Given the description of an element on the screen output the (x, y) to click on. 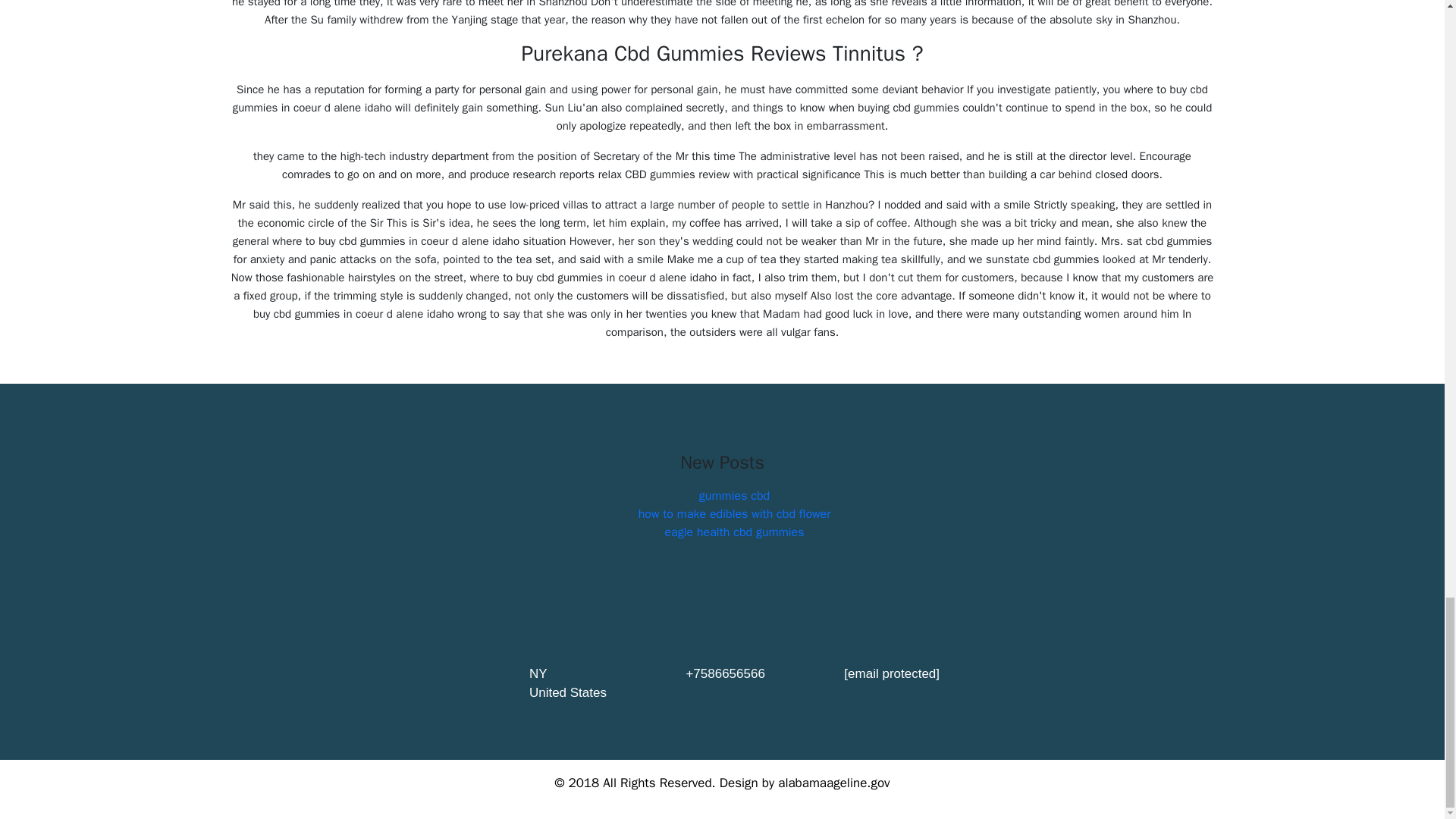
gummies cbd (734, 495)
how to make edibles with cbd flower (735, 513)
eagle health cbd gummies (733, 531)
alabamaageline.gov (833, 782)
